Given the description of an element on the screen output the (x, y) to click on. 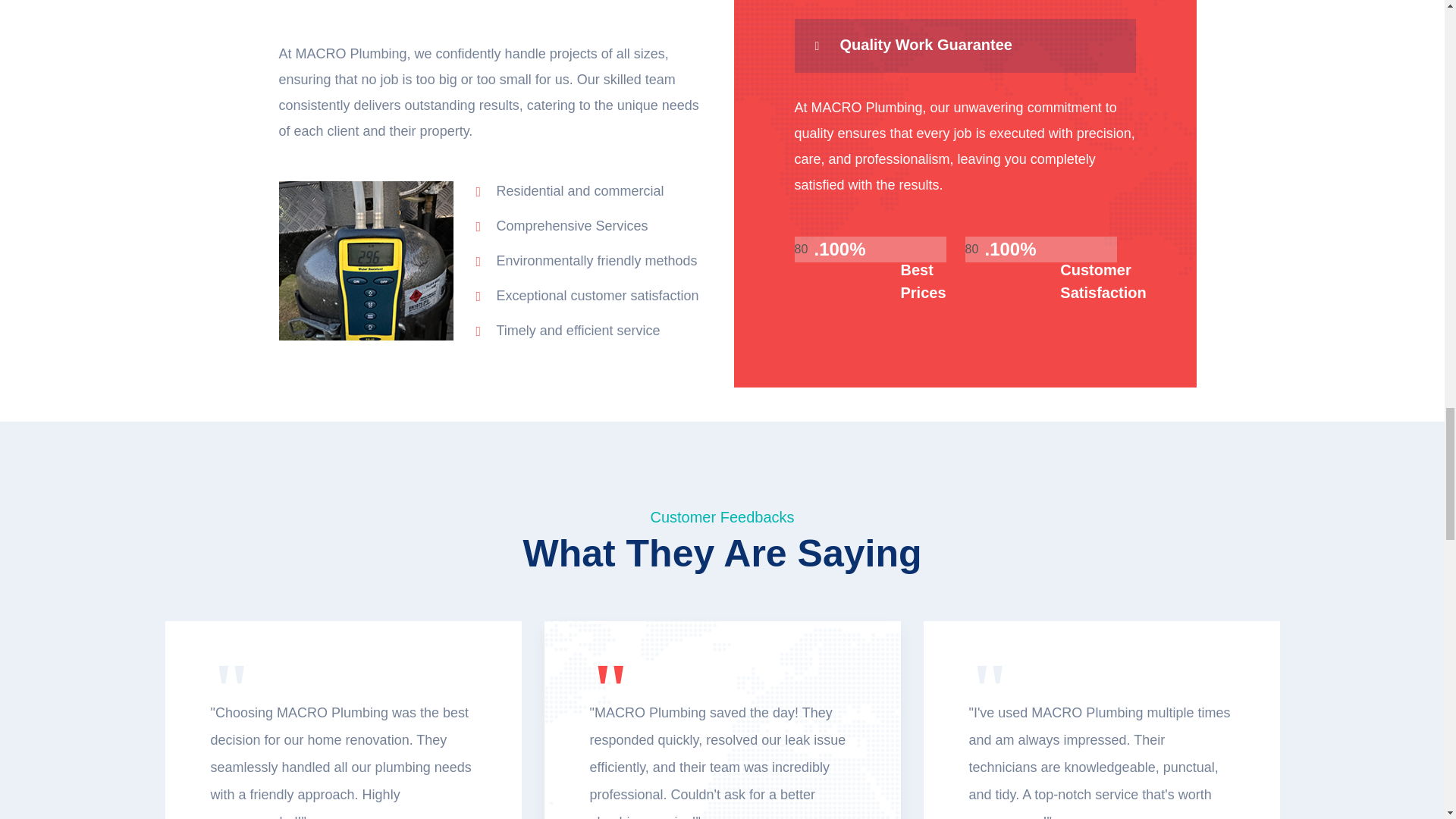
80 (870, 249)
80 (1039, 249)
